Given the description of an element on the screen output the (x, y) to click on. 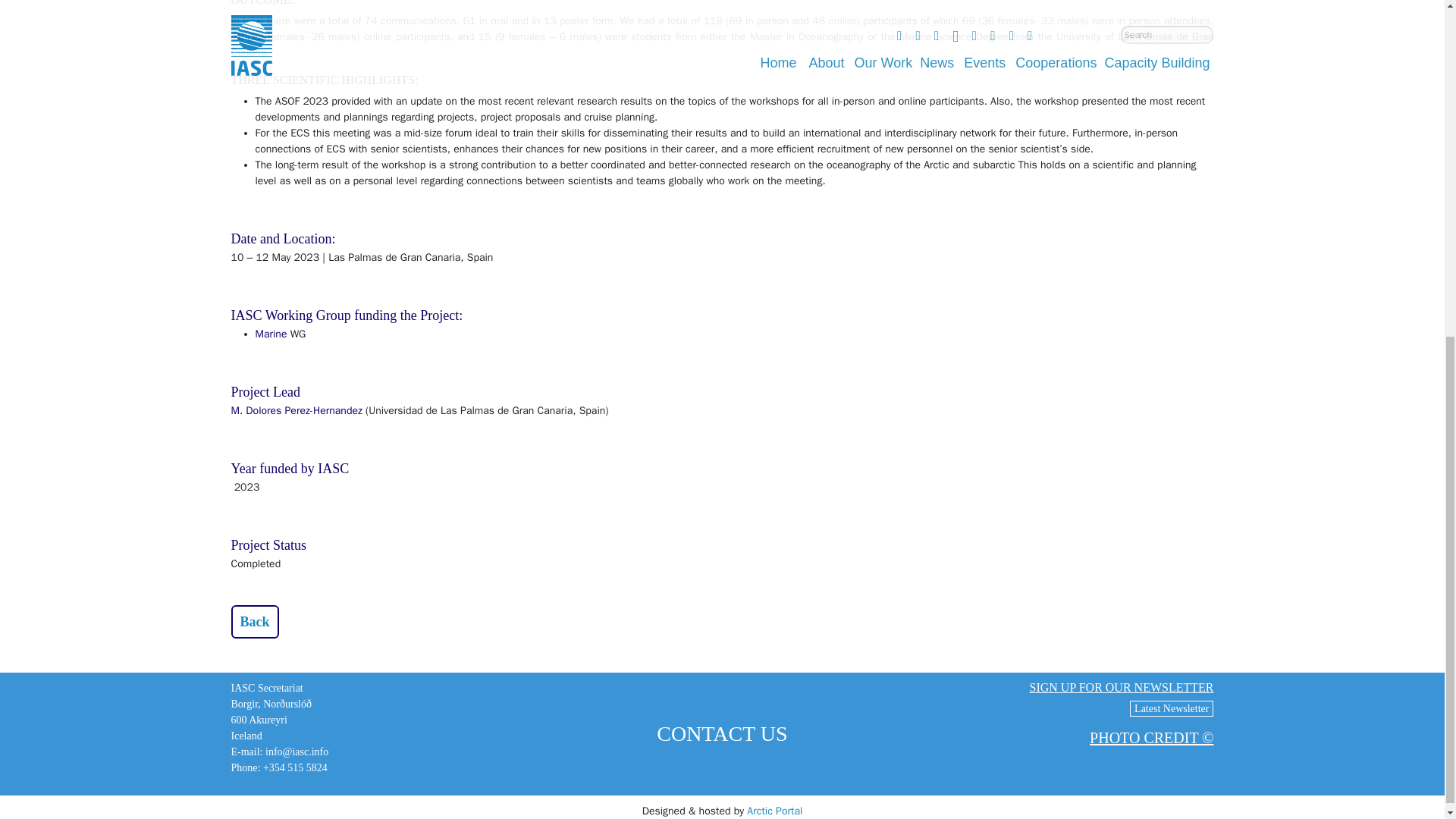
Arctic Portal (774, 810)
Photo Credit (1150, 737)
Newsletter sign up (1120, 686)
IASC Newsletter (1170, 708)
Publications (254, 621)
